Given the description of an element on the screen output the (x, y) to click on. 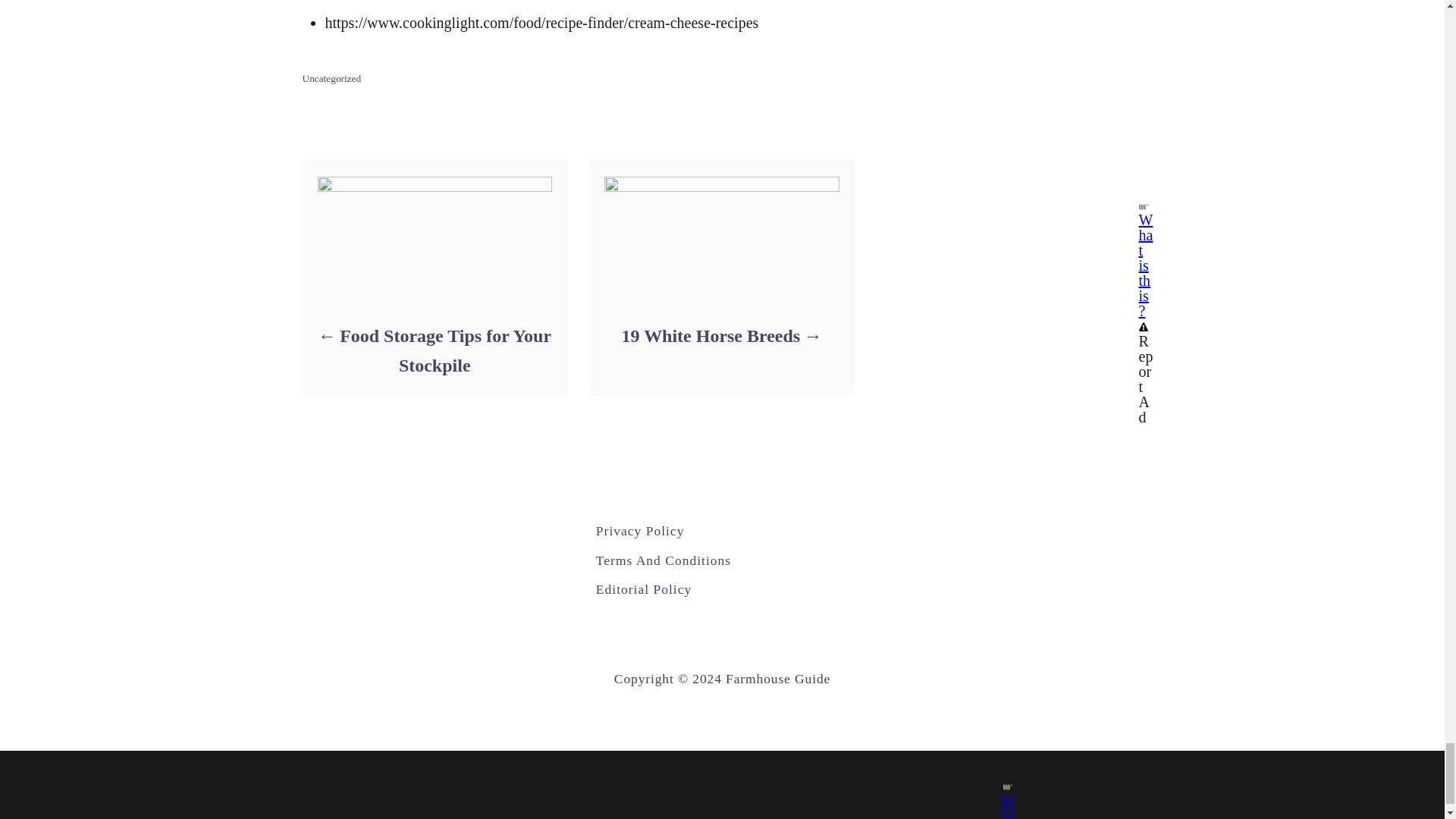
Food Storage Tips for Your Stockpile (434, 350)
Uncategorized (331, 78)
19 White Horse Breeds (721, 336)
